Given the description of an element on the screen output the (x, y) to click on. 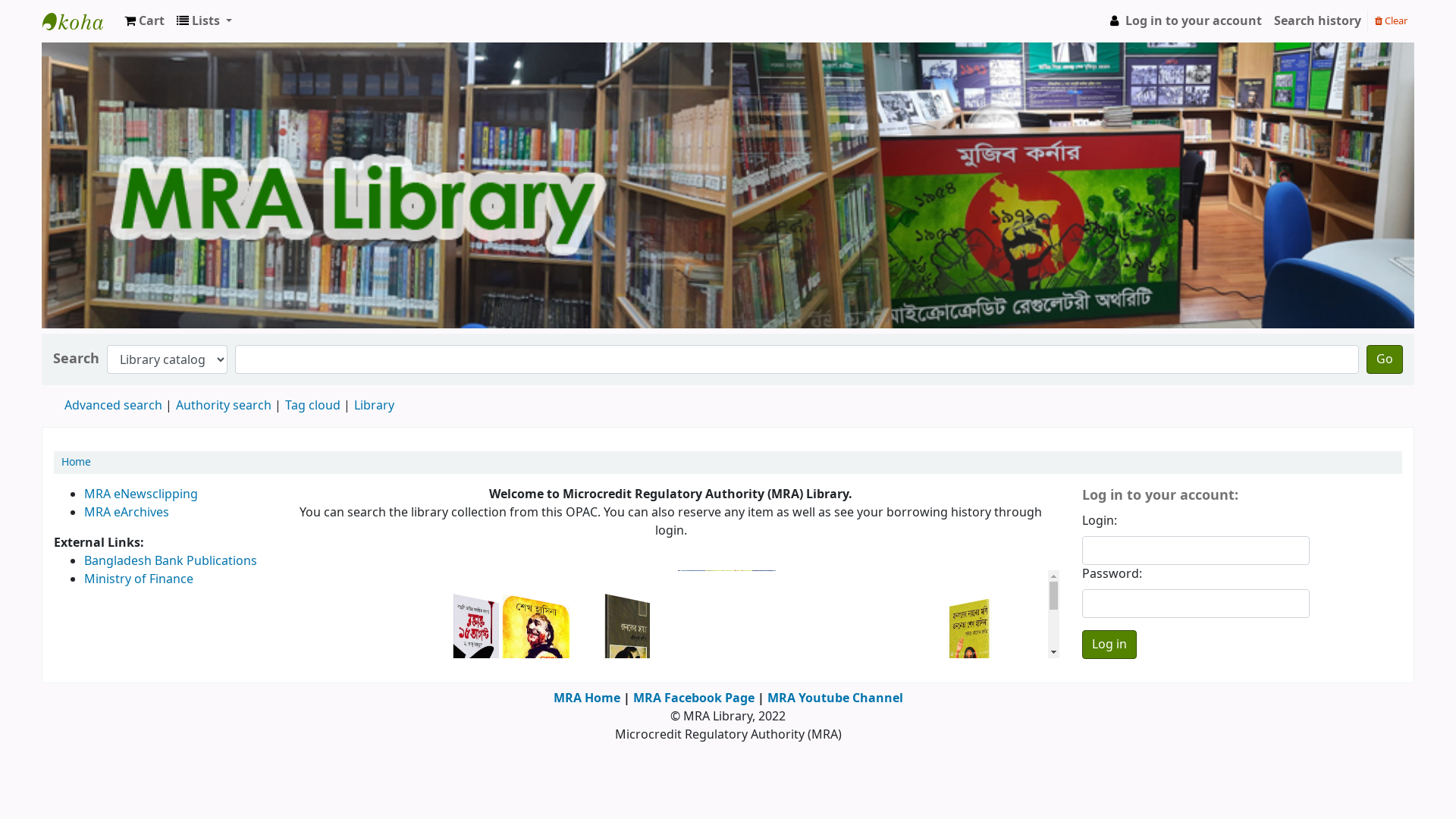
Advanced search Element type: text (113, 405)
Log in to your account Element type: text (1183, 21)
Tag cloud Element type: text (312, 405)
Clear Element type: text (1390, 20)
MRA eArchives Element type: text (126, 512)
Library Element type: text (374, 405)
Lists Element type: text (204, 21)
MRA Youtube Channel Element type: text (835, 698)
Cart Element type: text (144, 21)
MRA Facebook Page Element type: text (692, 698)
Bangladesh Bank Publications Element type: text (170, 561)
Type search term Element type: hover (796, 359)
Search history Element type: text (1317, 21)
MRA Library || Microcredit Regulatory Authority Element type: text (80, 21)
Log in Element type: text (1109, 644)
Authority search Element type: text (223, 405)
Home Element type: text (76, 462)
MRA Home Element type: text (586, 698)
MRA eNewsclipping Element type: text (140, 494)
Ministry of Finance Element type: text (138, 579)
Go Element type: text (1384, 359)
